Given the description of an element on the screen output the (x, y) to click on. 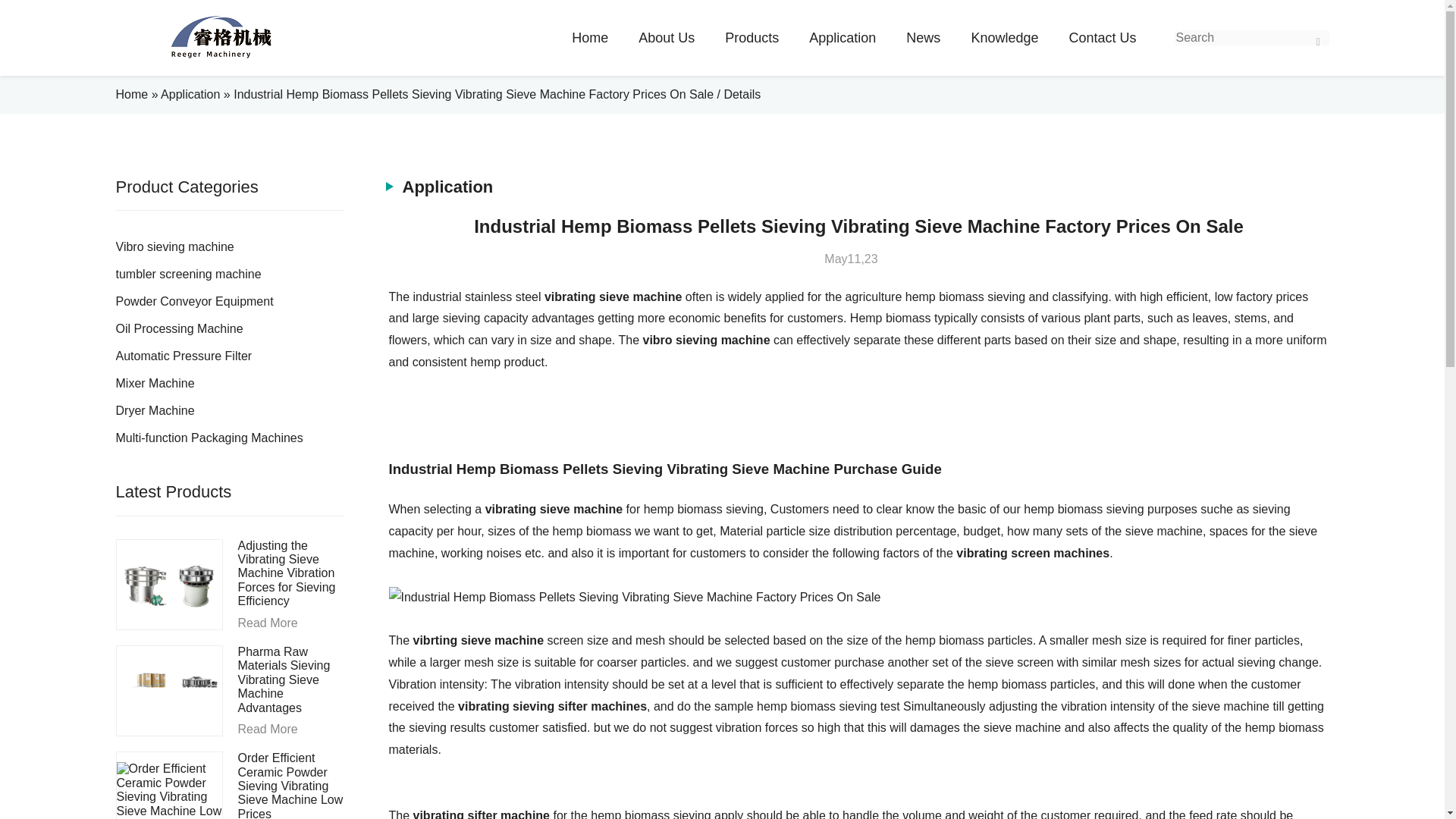
Home (131, 93)
Read More (290, 622)
Mixer Machine (228, 383)
Dryer Machine (228, 411)
Contact Us (1101, 38)
